Given the description of an element on the screen output the (x, y) to click on. 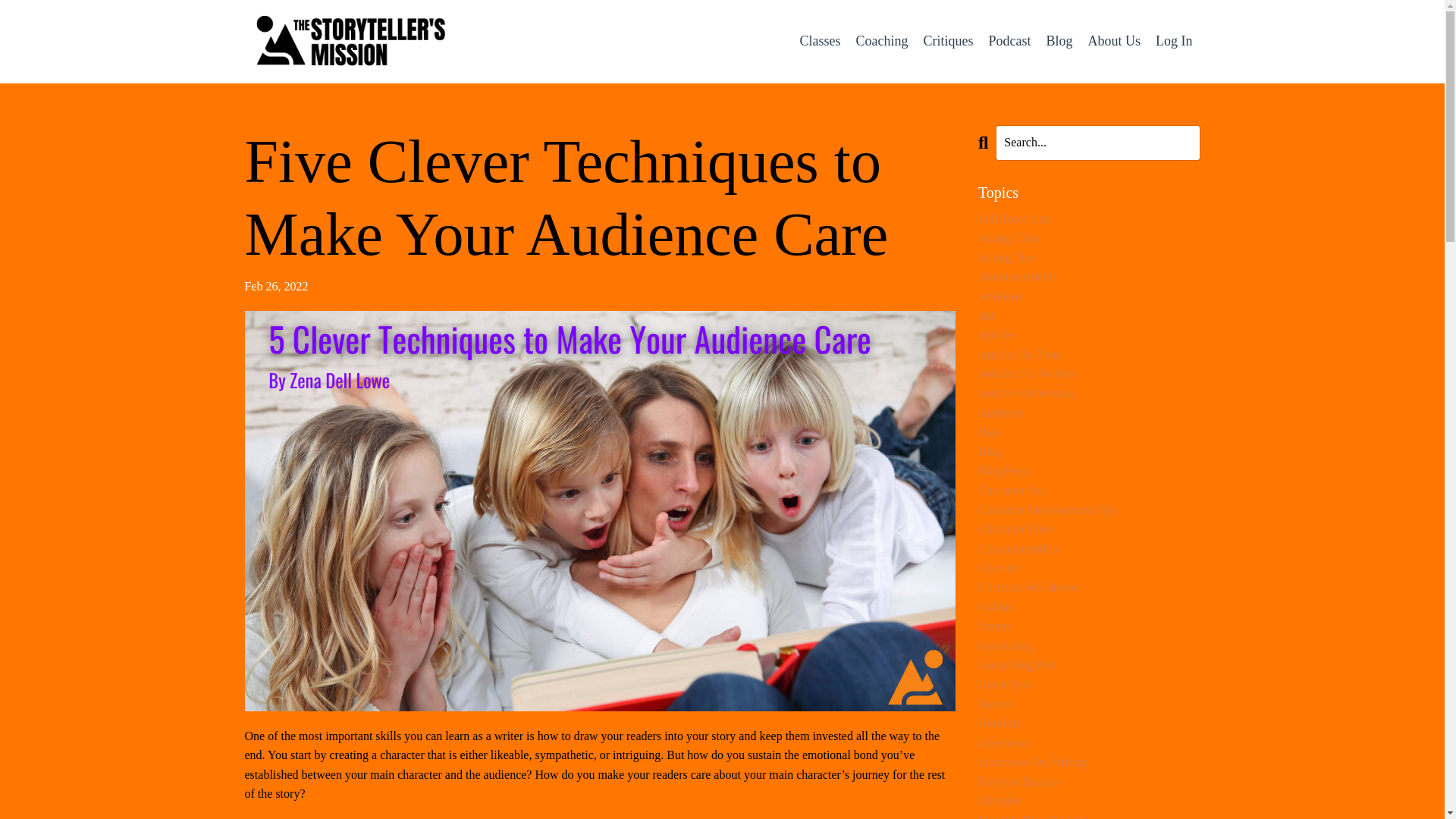
Acting Class (1088, 238)
Character Arc (1088, 490)
Events (1088, 626)
Humility (1088, 723)
Podcast (1009, 41)
Blog Posts (1088, 470)
About Us (1113, 41)
Interviews (1088, 742)
Character Development Tips (1088, 510)
Interviews On Writing (1088, 762)
Guest Blog (1088, 646)
Audience (1088, 413)
Monthly Blog Column (1088, 814)
Blog (1058, 41)
Keynote Speaker (1088, 781)
